Given the description of an element on the screen output the (x, y) to click on. 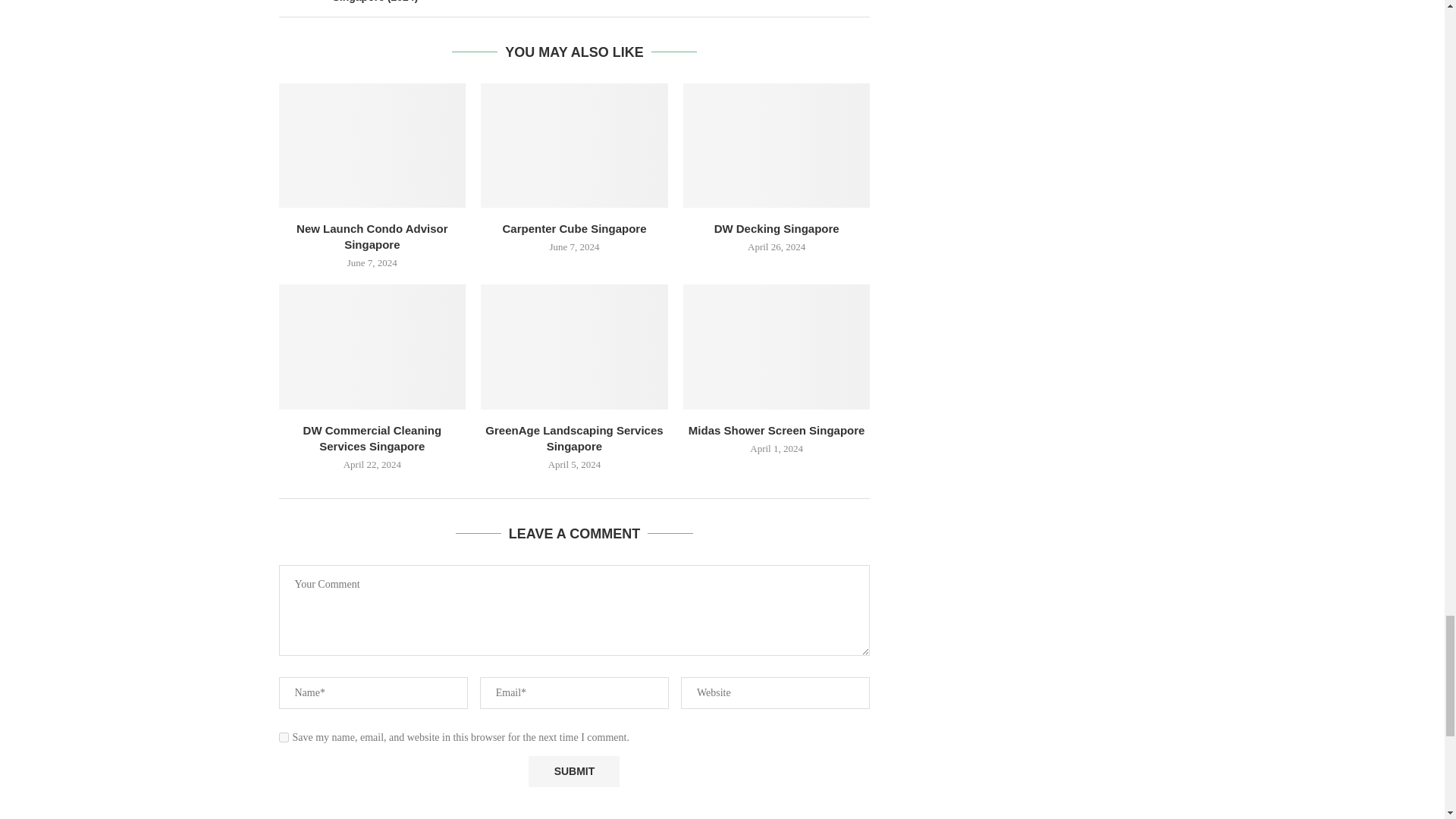
DW Decking Singapore (776, 145)
New Launch Condo Advisor Singapore (372, 145)
yes (283, 737)
DW Commercial Cleaning Services Singapore (372, 346)
Carpenter Cube Singapore (574, 145)
Submit (574, 771)
Midas Shower Screen Singapore (776, 346)
GreenAge Landscaping Services Singapore (574, 346)
